Given the description of an element on the screen output the (x, y) to click on. 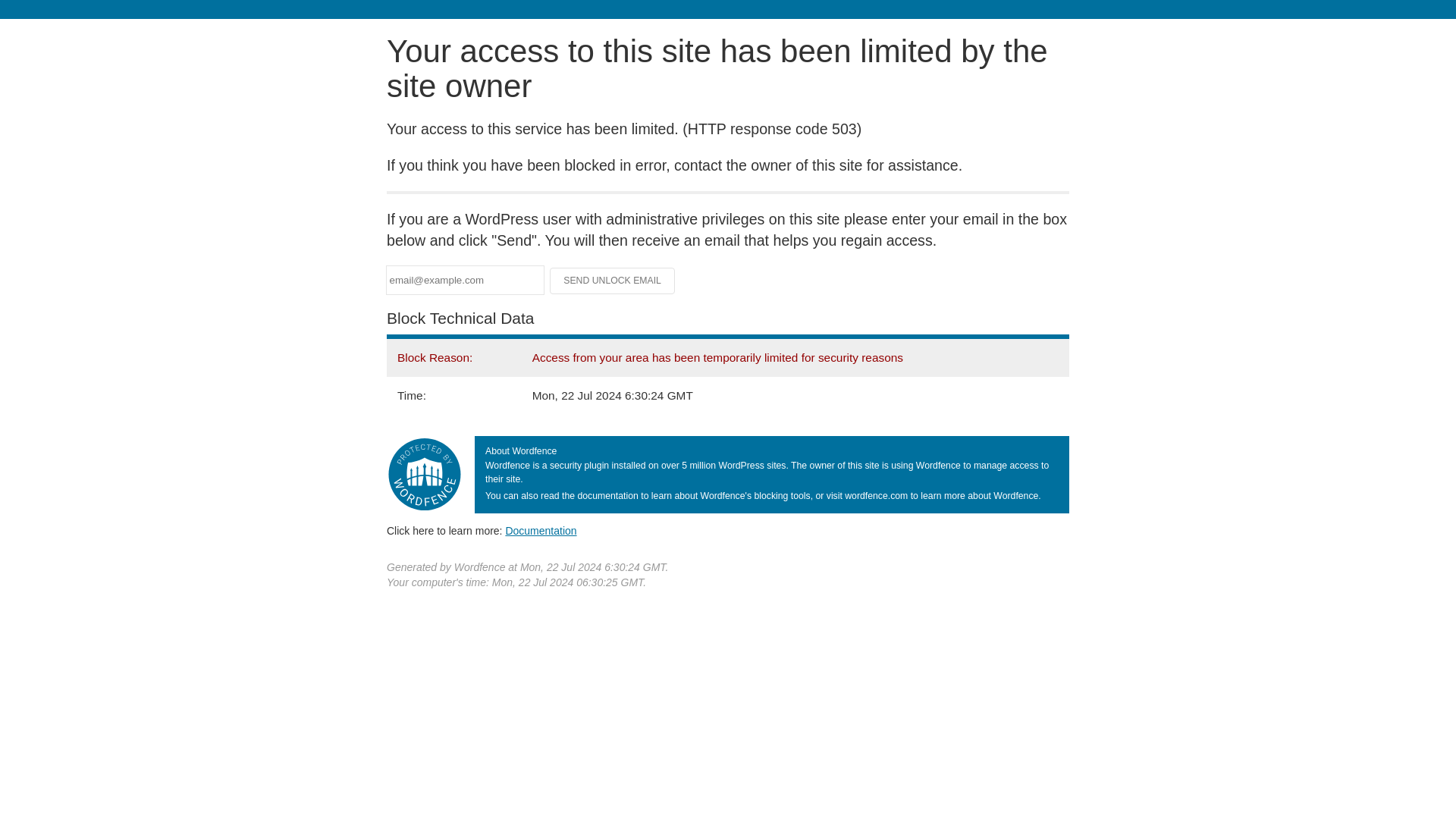
Send Unlock Email (612, 280)
Send Unlock Email (612, 280)
